Given the description of an element on the screen output the (x, y) to click on. 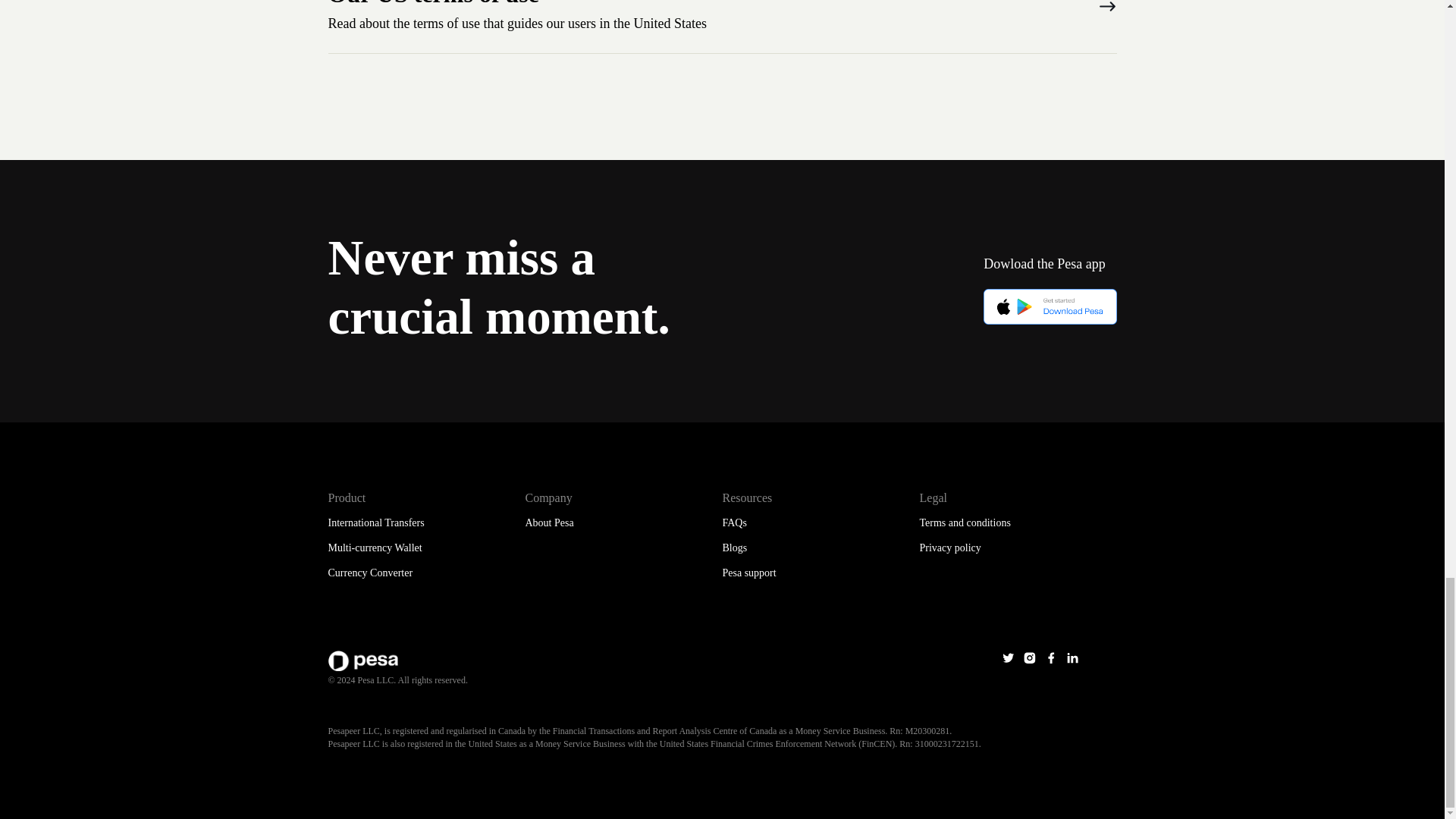
Pesa support (749, 572)
Terms and conditions (964, 522)
Multi-currency Wallet (374, 547)
Blogs (734, 547)
FAQs (733, 522)
International Transfers (375, 522)
About Pesa (548, 522)
Currency Converter (369, 572)
Privacy policy (948, 547)
